Given the description of an element on the screen output the (x, y) to click on. 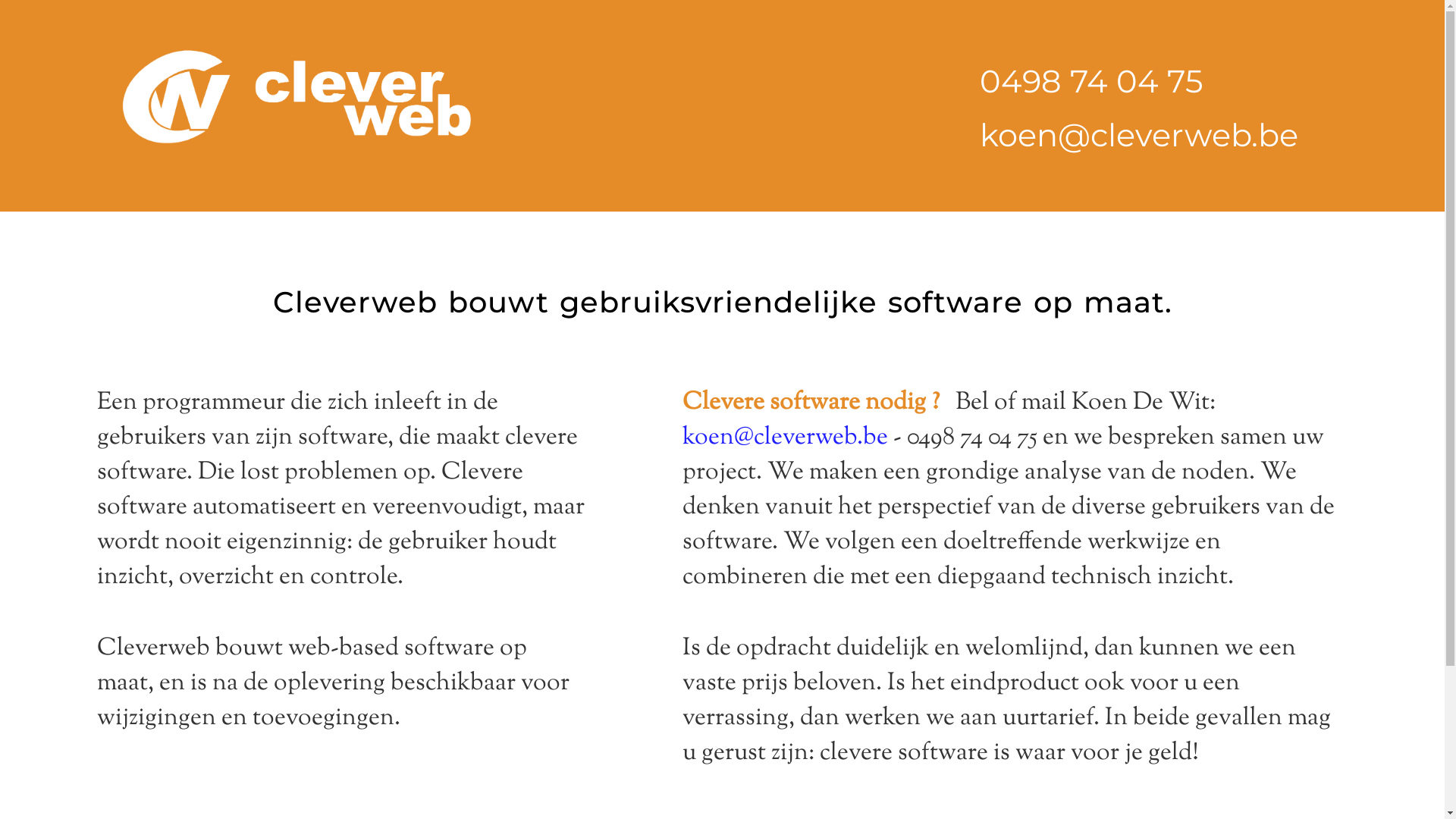
koen@cleverweb.be Element type: text (785, 437)
koen@cleverweb.be Element type: text (1138, 134)
